Given the description of an element on the screen output the (x, y) to click on. 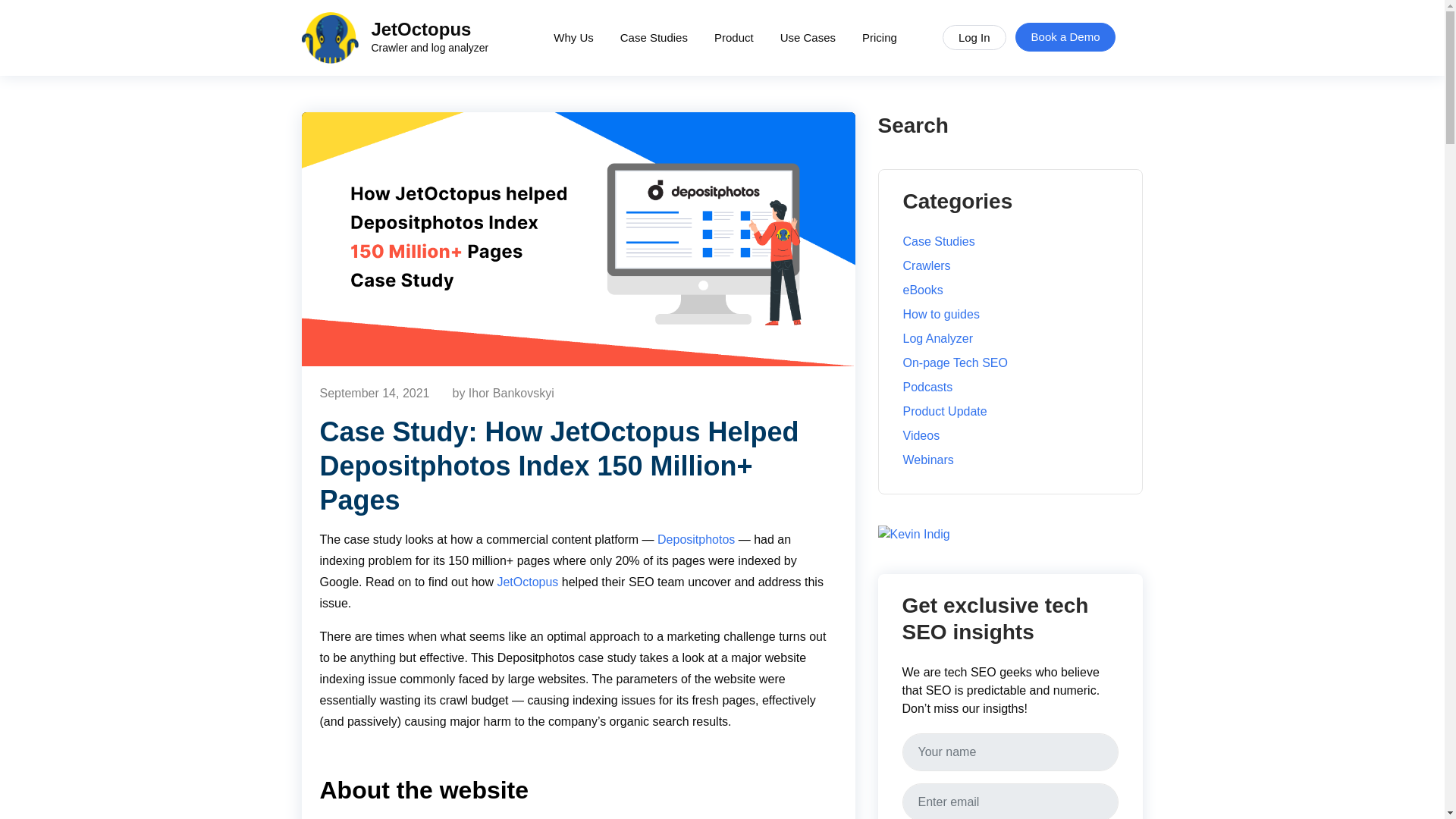
Product (734, 37)
Why Us (573, 37)
Pricing (878, 37)
Book a Demo (1065, 37)
JetOctopus (395, 37)
Use Cases (526, 581)
Log In (807, 37)
Depositphotos (974, 37)
Case Studies (696, 539)
